Given the description of an element on the screen output the (x, y) to click on. 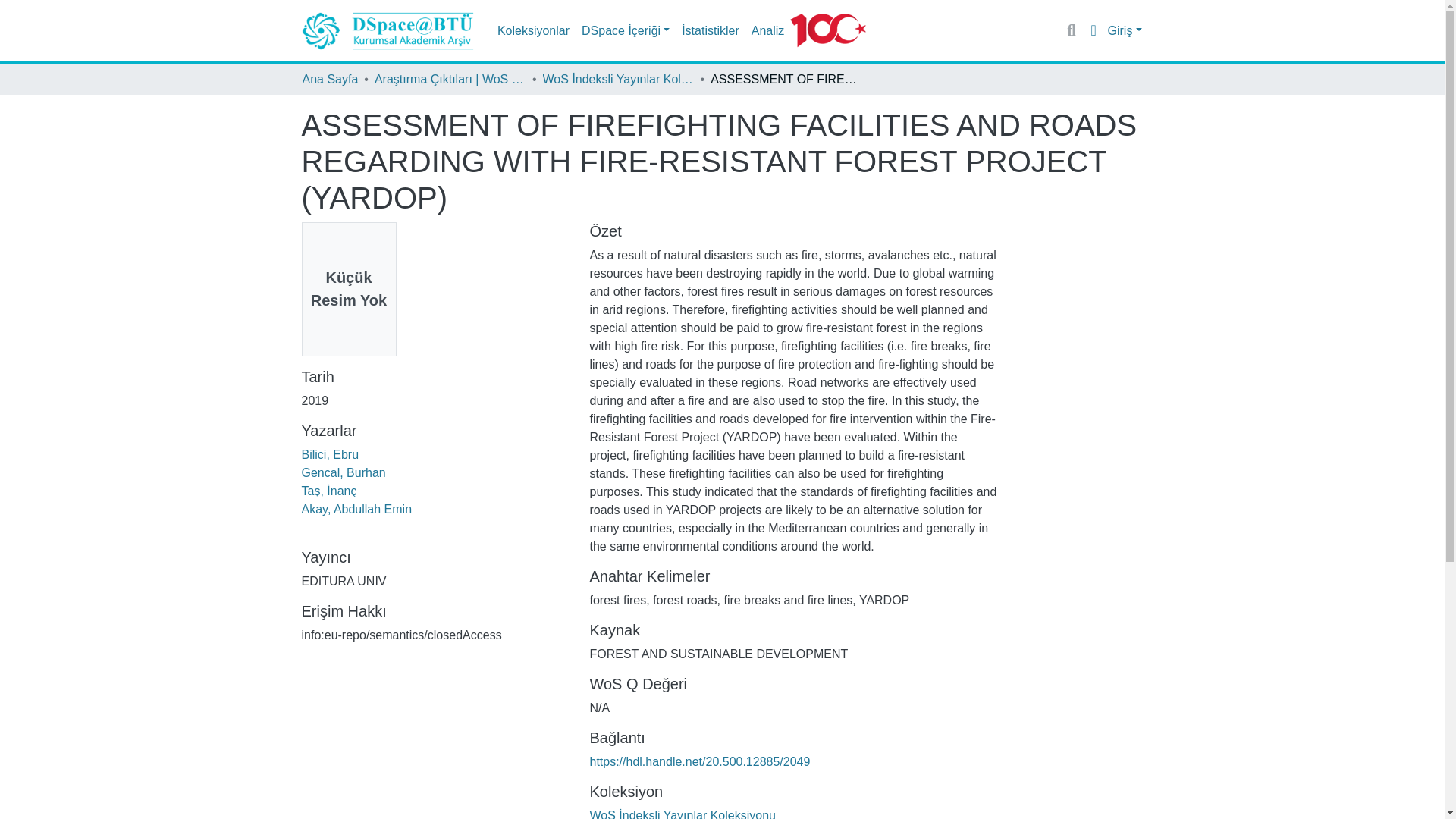
Akay, Abdullah Emin (356, 508)
Koleksiyonlar (533, 30)
Bilici, Ebru (330, 454)
Ana Sayfa (329, 79)
Analiz (767, 30)
Koleksiyonlar (533, 30)
Gencal, Burhan (343, 472)
Ara (1071, 30)
